Given the description of an element on the screen output the (x, y) to click on. 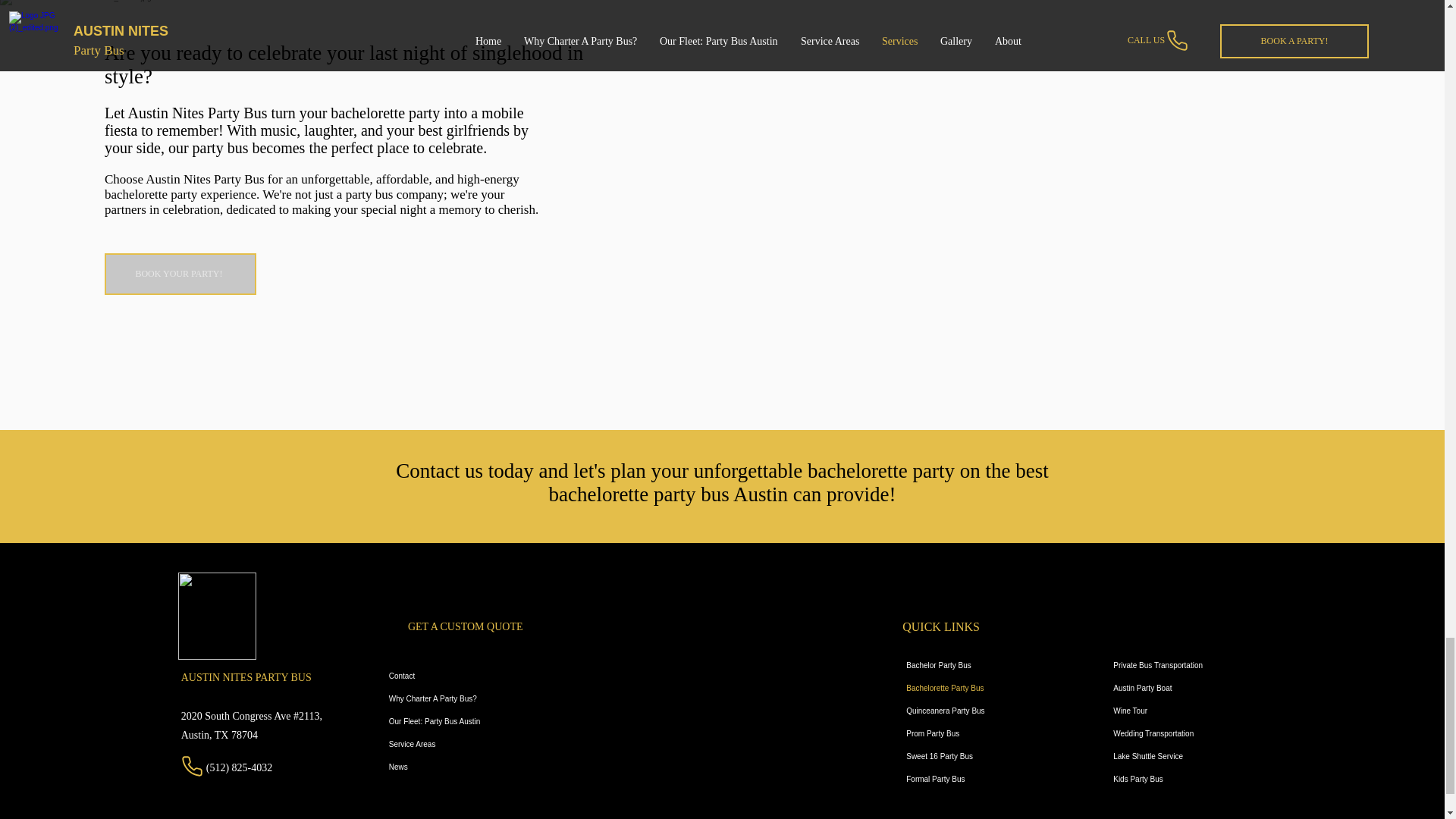
BOOK YOUR PARTY! (180, 273)
